Given the description of an element on the screen output the (x, y) to click on. 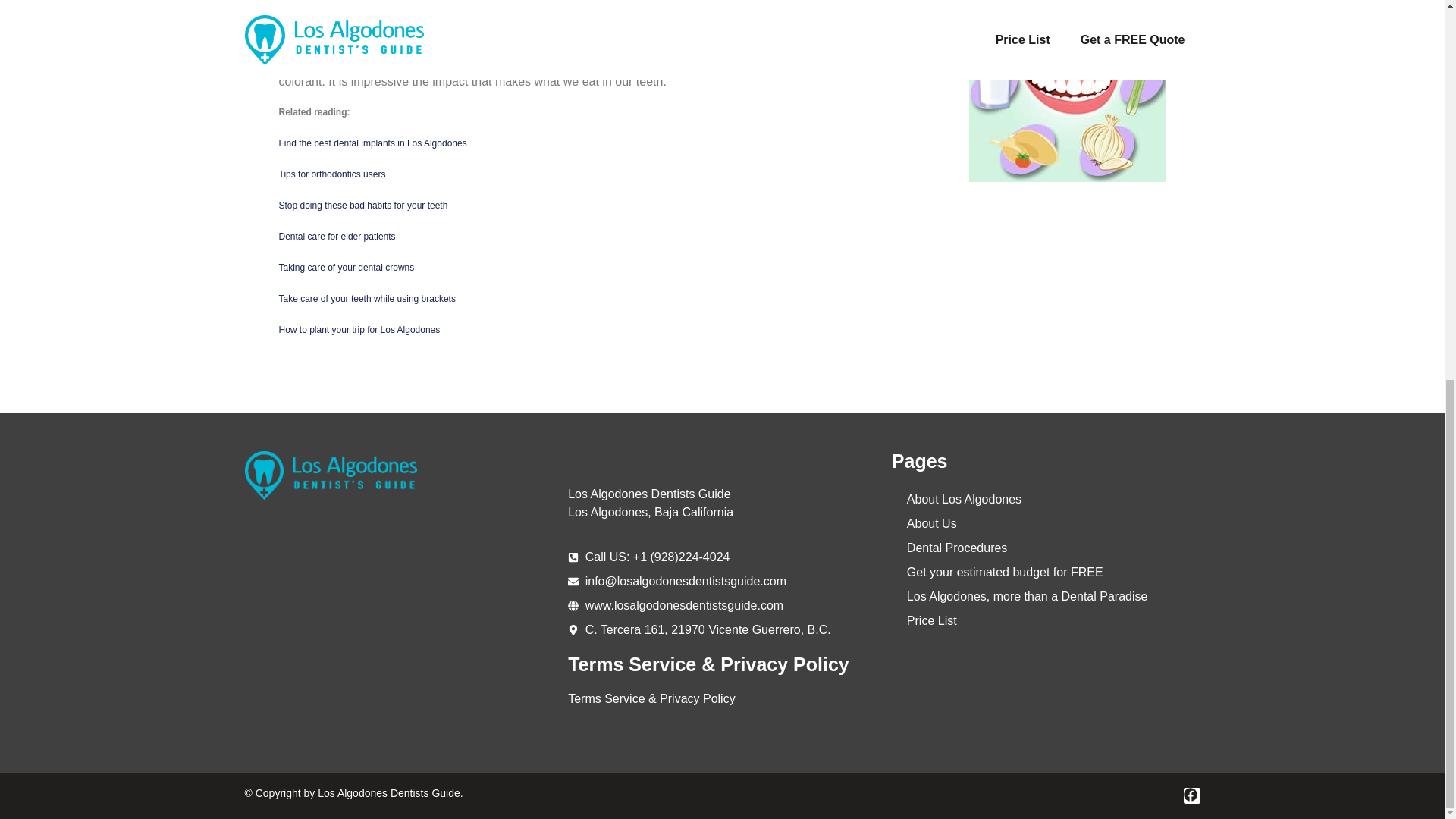
Stop doing these bad habits for your teeth (363, 204)
Take care of your teeth while using brackets (367, 298)
Dental Procedures (1027, 548)
Find the best dental implants in Los Algodones (373, 143)
Los algodones dentists guide (398, 628)
Avoiding junk food (906, 44)
Los Algodones, more than a Dental Paradise (1027, 596)
Get your estimated budget for FREE (1027, 572)
About Los Algodones (1027, 499)
Dental care for elder patients (337, 235)
